Given the description of an element on the screen output the (x, y) to click on. 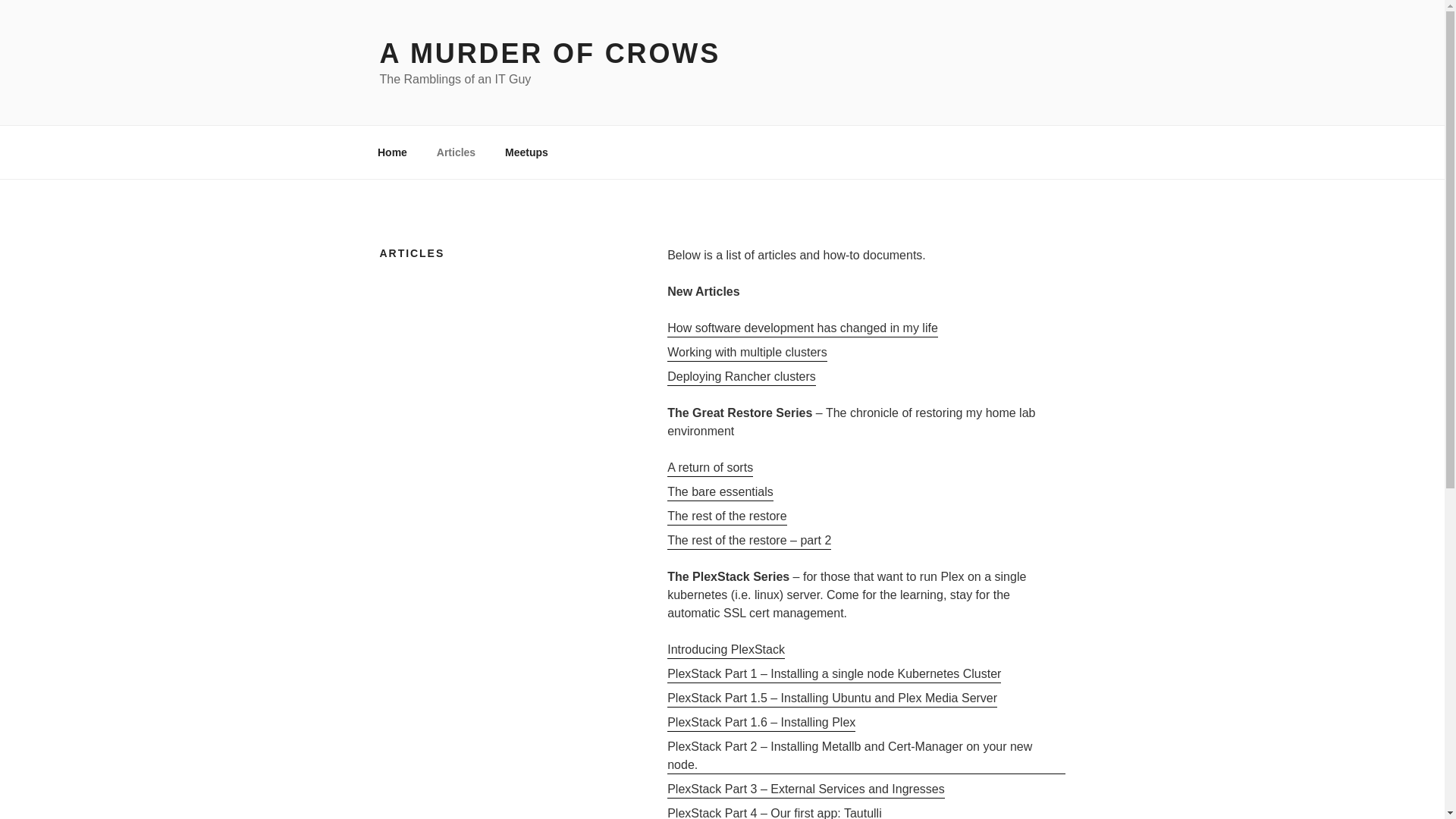
The bare essentials (719, 492)
Articles (455, 151)
Home (392, 151)
The rest of the restore (726, 515)
Working with multiple clusters (746, 352)
How software development has changed in my life (801, 328)
Introducing PlexStack (725, 649)
Deploying Rancher clusters (740, 376)
Meetups (527, 151)
A MURDER OF CROWS (549, 52)
